Given the description of an element on the screen output the (x, y) to click on. 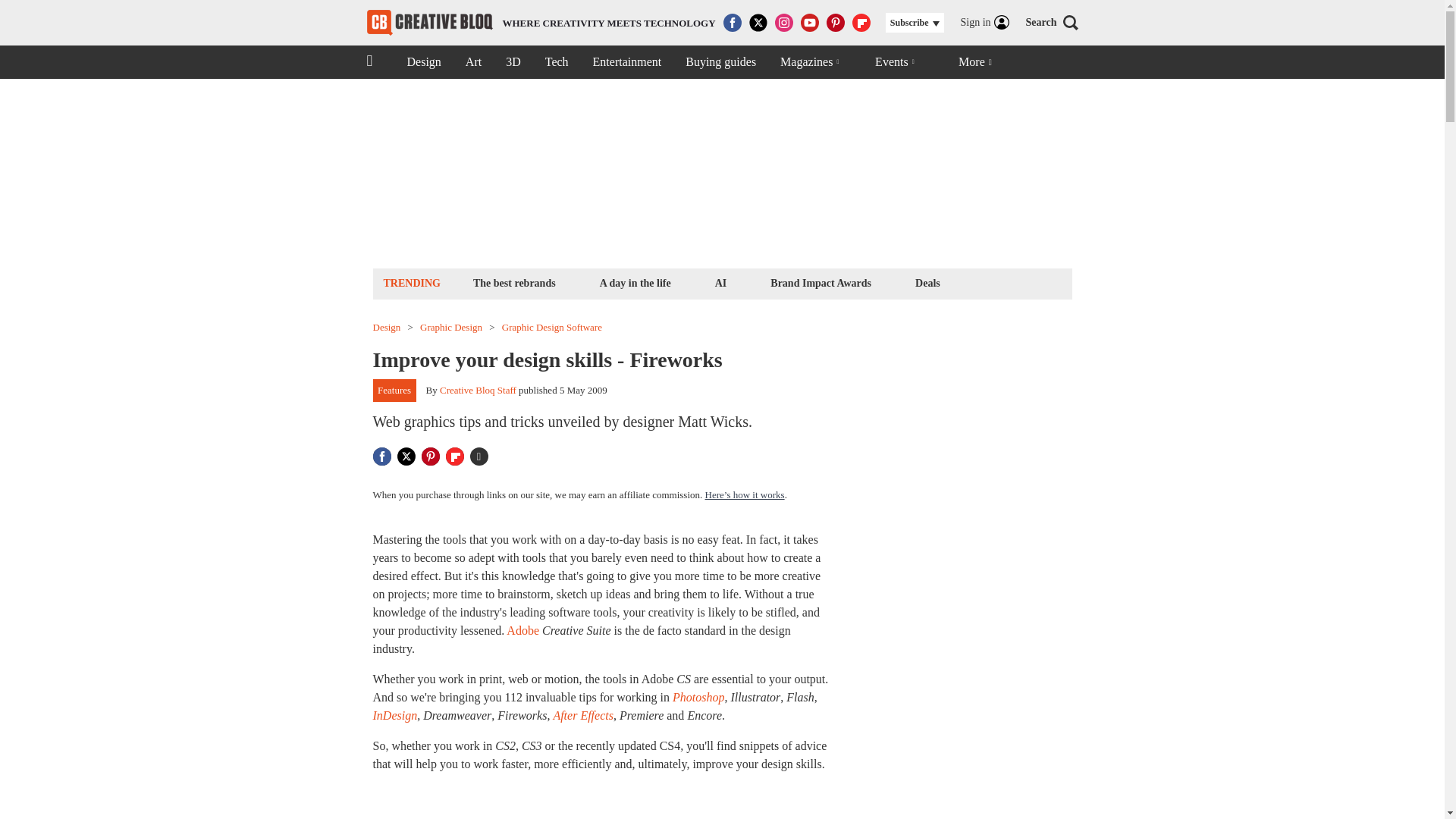
AI (721, 282)
The best rebrands (513, 282)
Graphic Design Software (552, 327)
Brand Impact Awards (820, 282)
Features (394, 390)
Design (423, 61)
Design (386, 327)
Tech (556, 61)
Entertainment (627, 61)
Buying guides (720, 61)
